Given the description of an element on the screen output the (x, y) to click on. 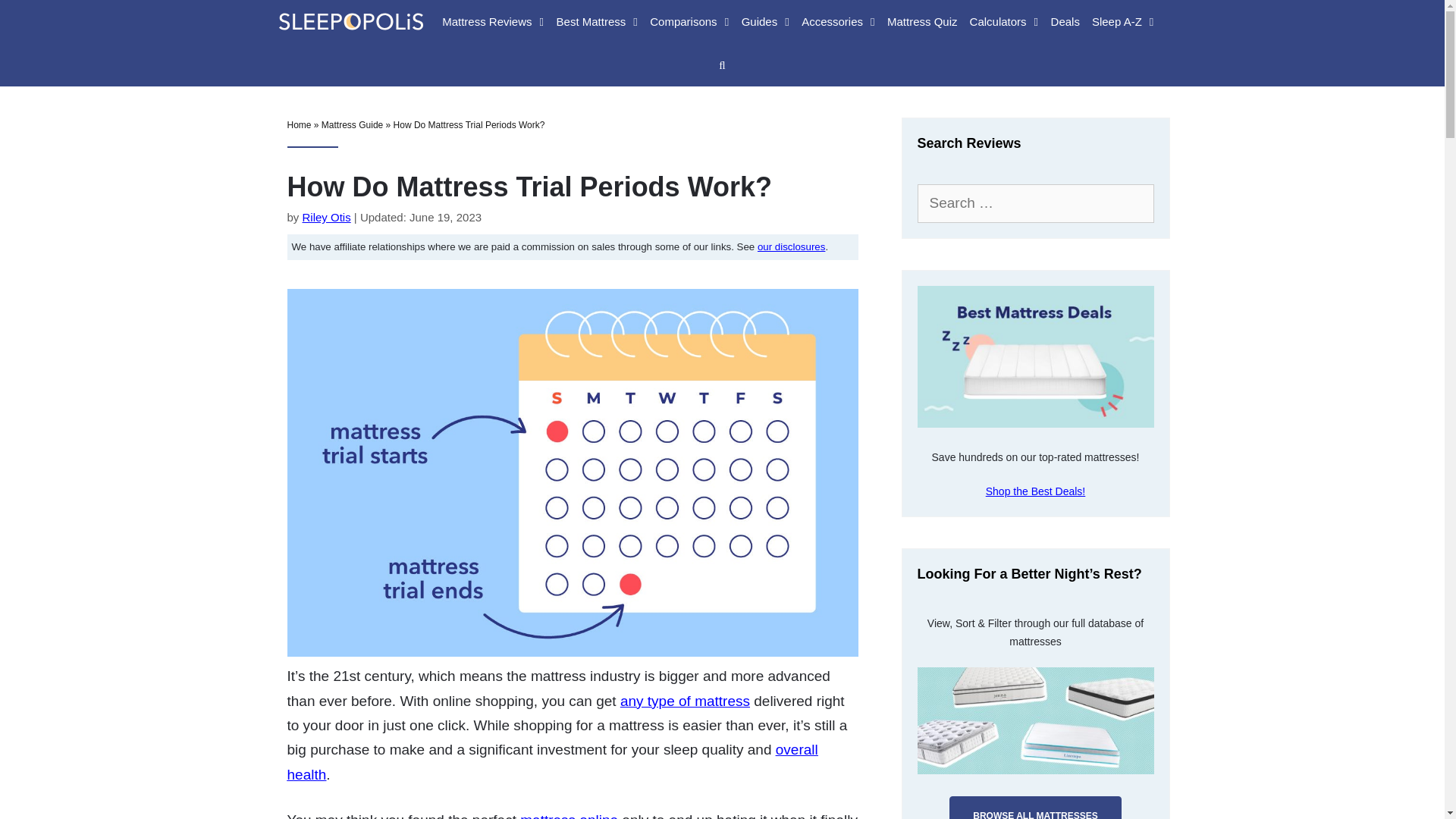
View all posts by Riley Otis (326, 216)
Sleepopolis (346, 19)
Mattress Reviews (492, 21)
Search for: (1035, 203)
